Given the description of an element on the screen output the (x, y) to click on. 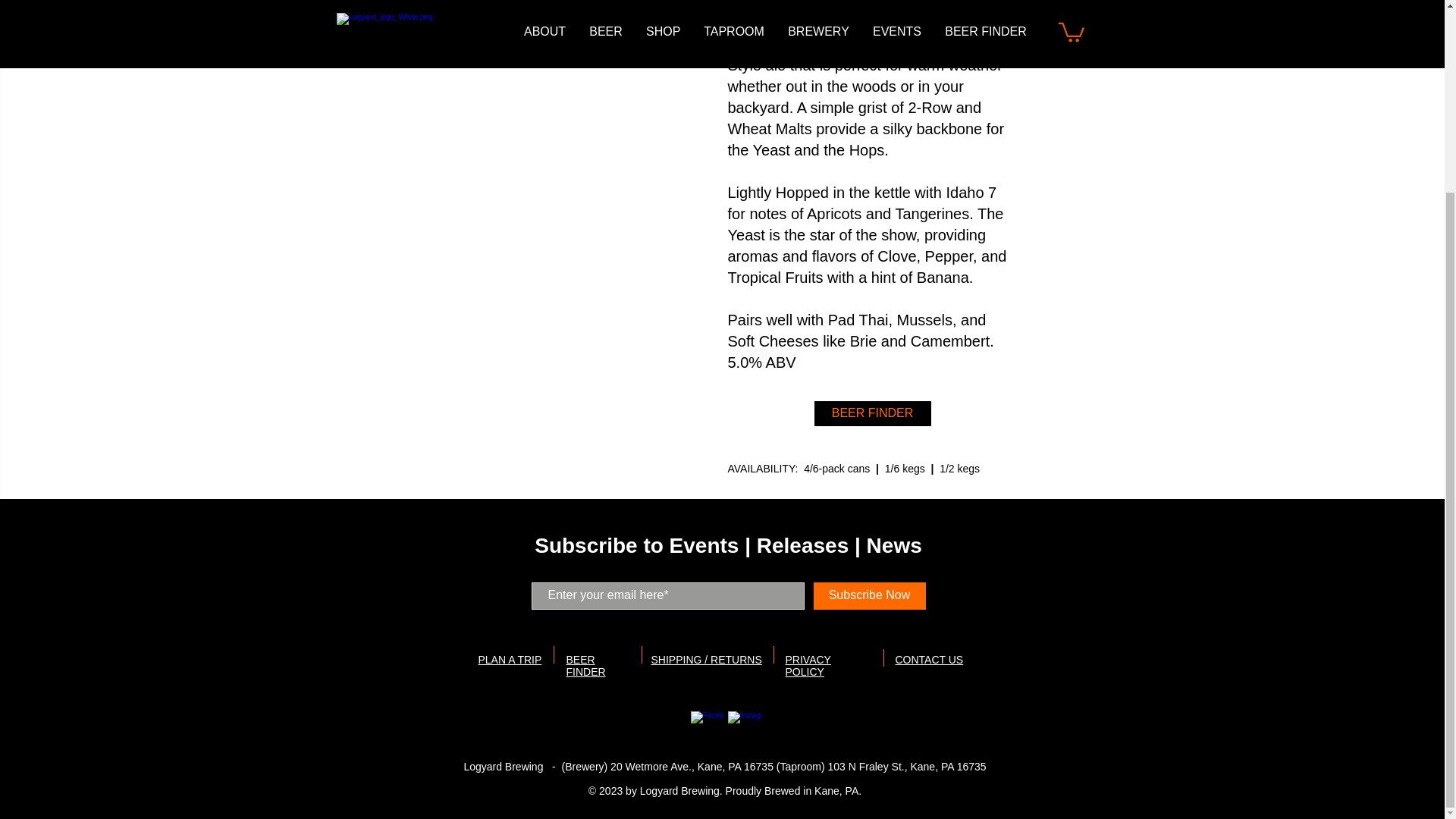
BEER FINDER (585, 665)
BEER FINDER (872, 413)
CONTACT US (928, 659)
Subscribe Now (868, 595)
PLAN A TRIP (509, 659)
PRIVACY POLICY (808, 665)
